Given the description of an element on the screen output the (x, y) to click on. 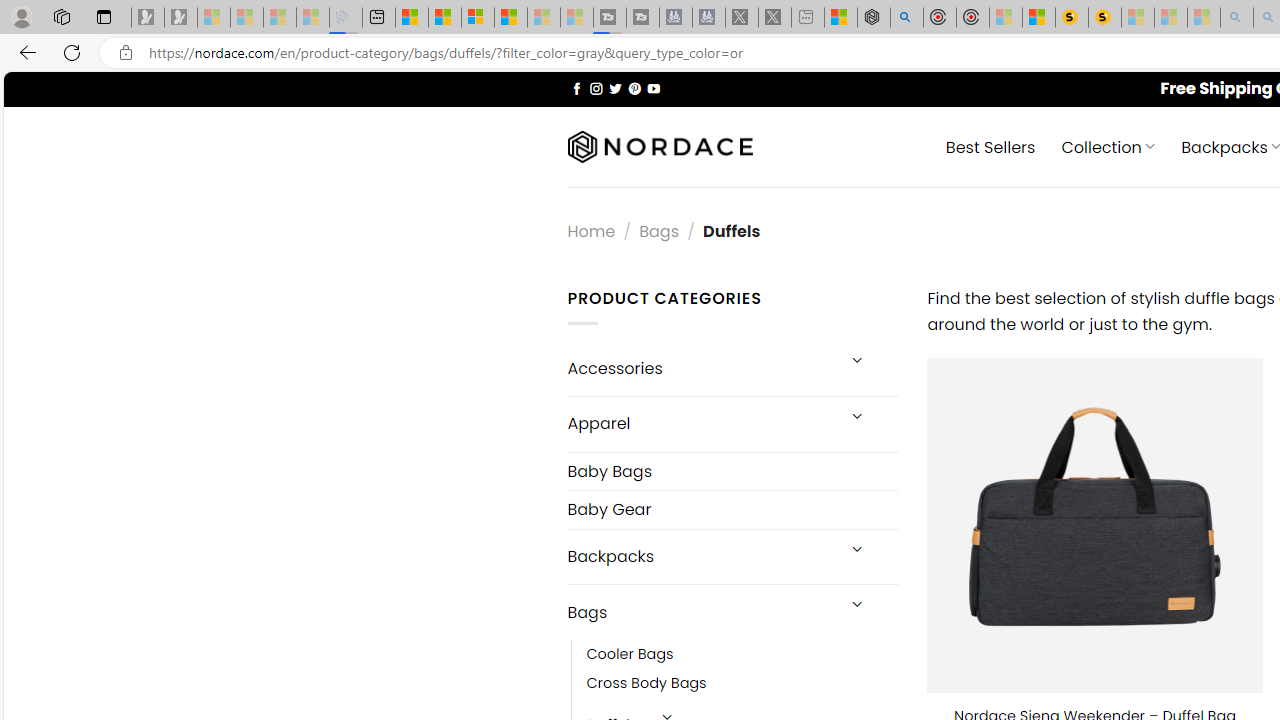
Newsletter Sign Up - Sleeping (181, 17)
Baby Bags (732, 470)
Cross Body Bags (646, 683)
 Best Sellers (989, 146)
